Given the description of an element on the screen output the (x, y) to click on. 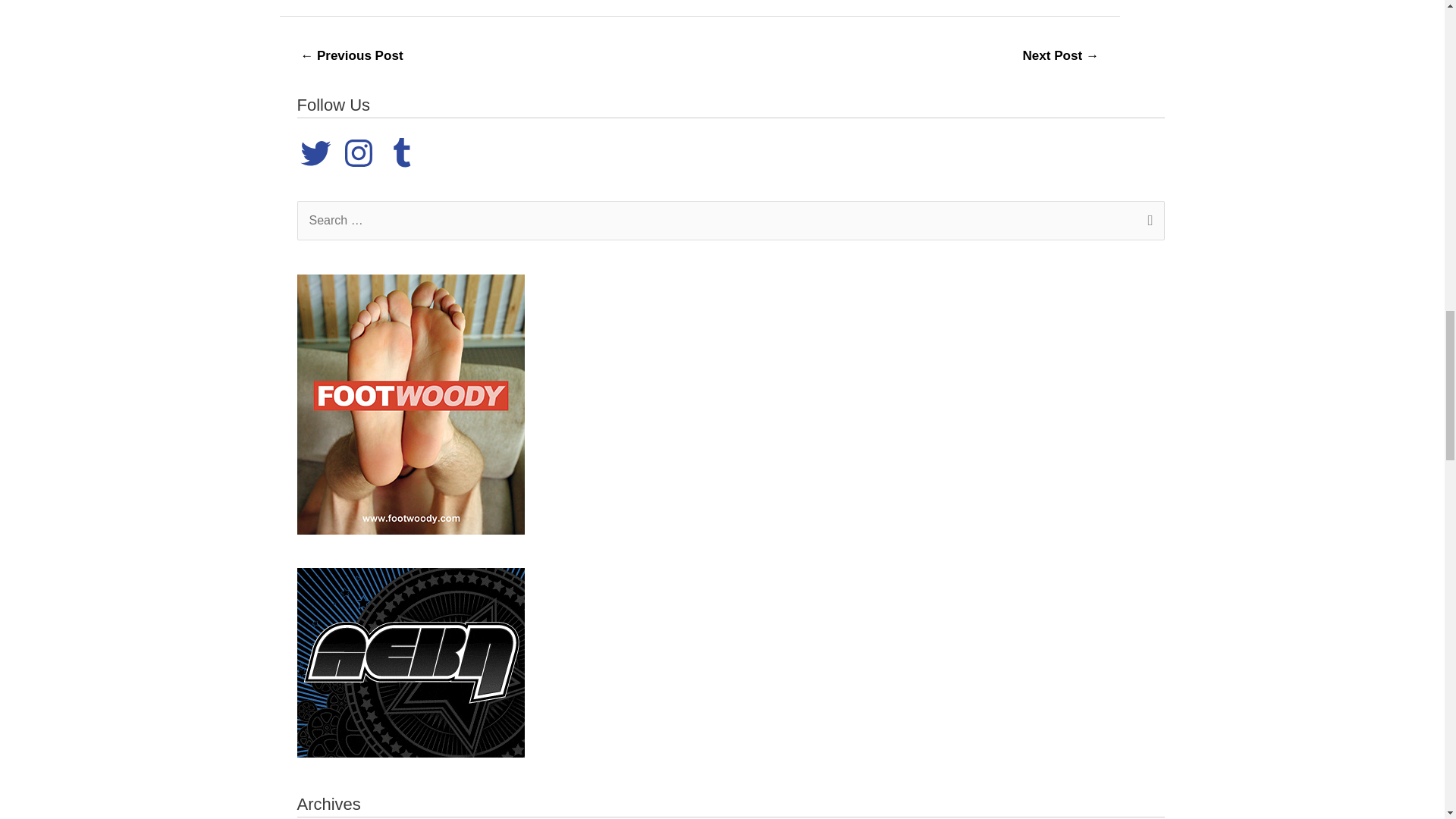
Twitter (315, 153)
Tumblr (402, 153)
Instagram (358, 153)
